Given the description of an element on the screen output the (x, y) to click on. 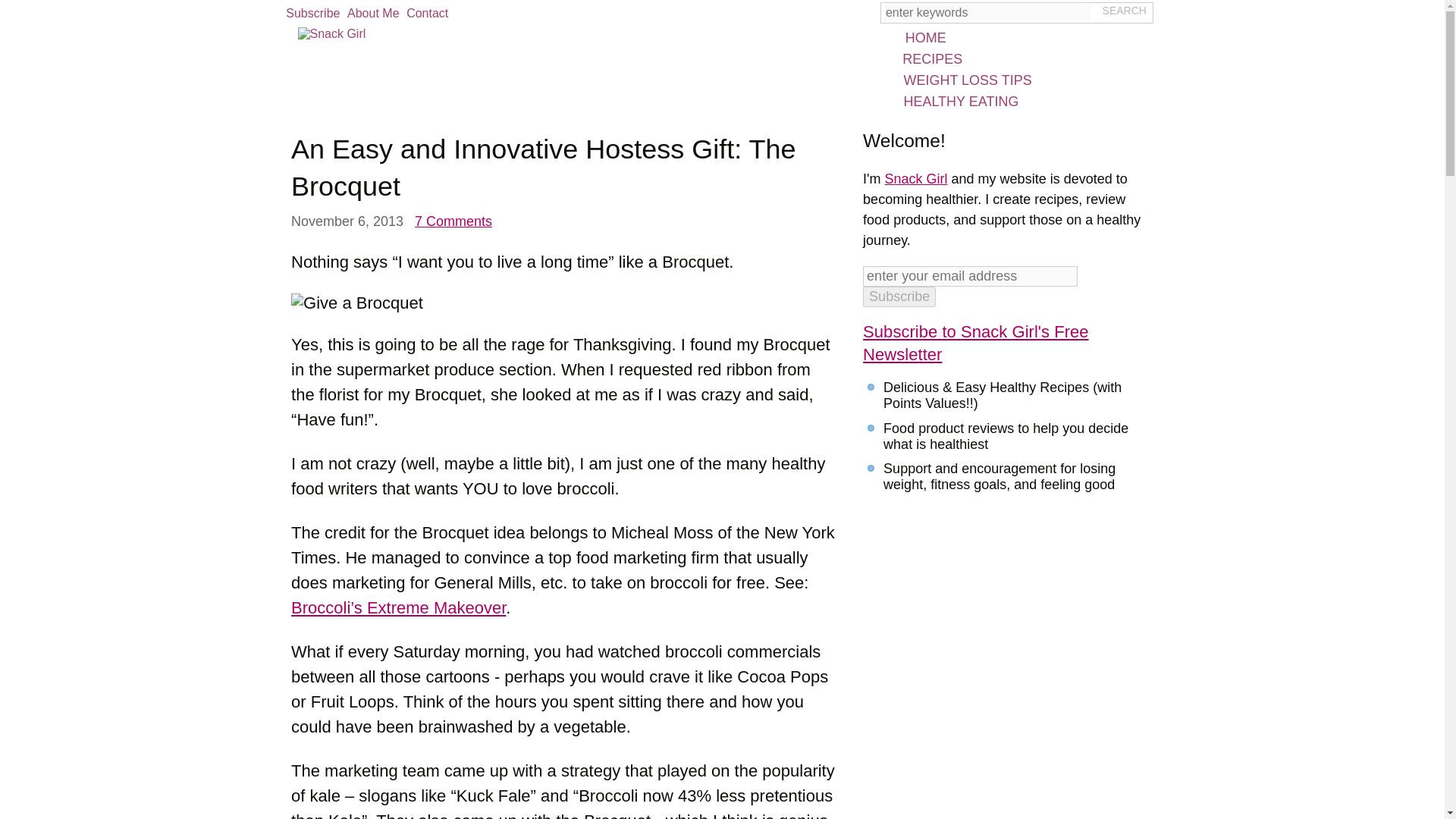
Snack Girl (916, 178)
Subscribe to Snack Girl's Free Newsletter (975, 342)
Subscribe (312, 13)
Subscribe (899, 296)
HOME (976, 36)
Contact (427, 13)
RECIPES (976, 57)
7 Comments (453, 221)
Search (1124, 10)
About Me (372, 13)
